Given the description of an element on the screen output the (x, y) to click on. 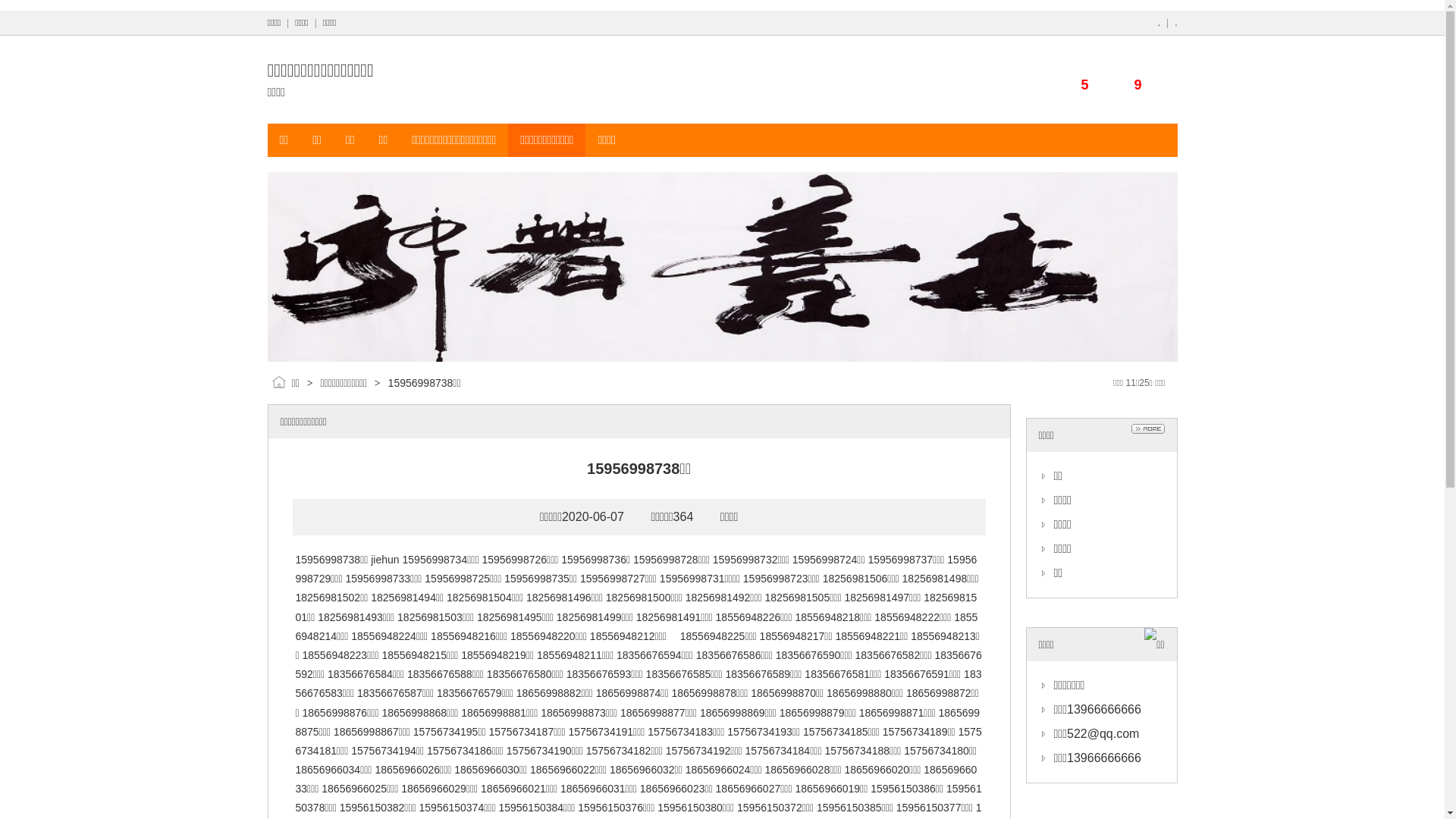
. Element type: text (1158, 22)
. Element type: text (1175, 22)
